Given the description of an element on the screen output the (x, y) to click on. 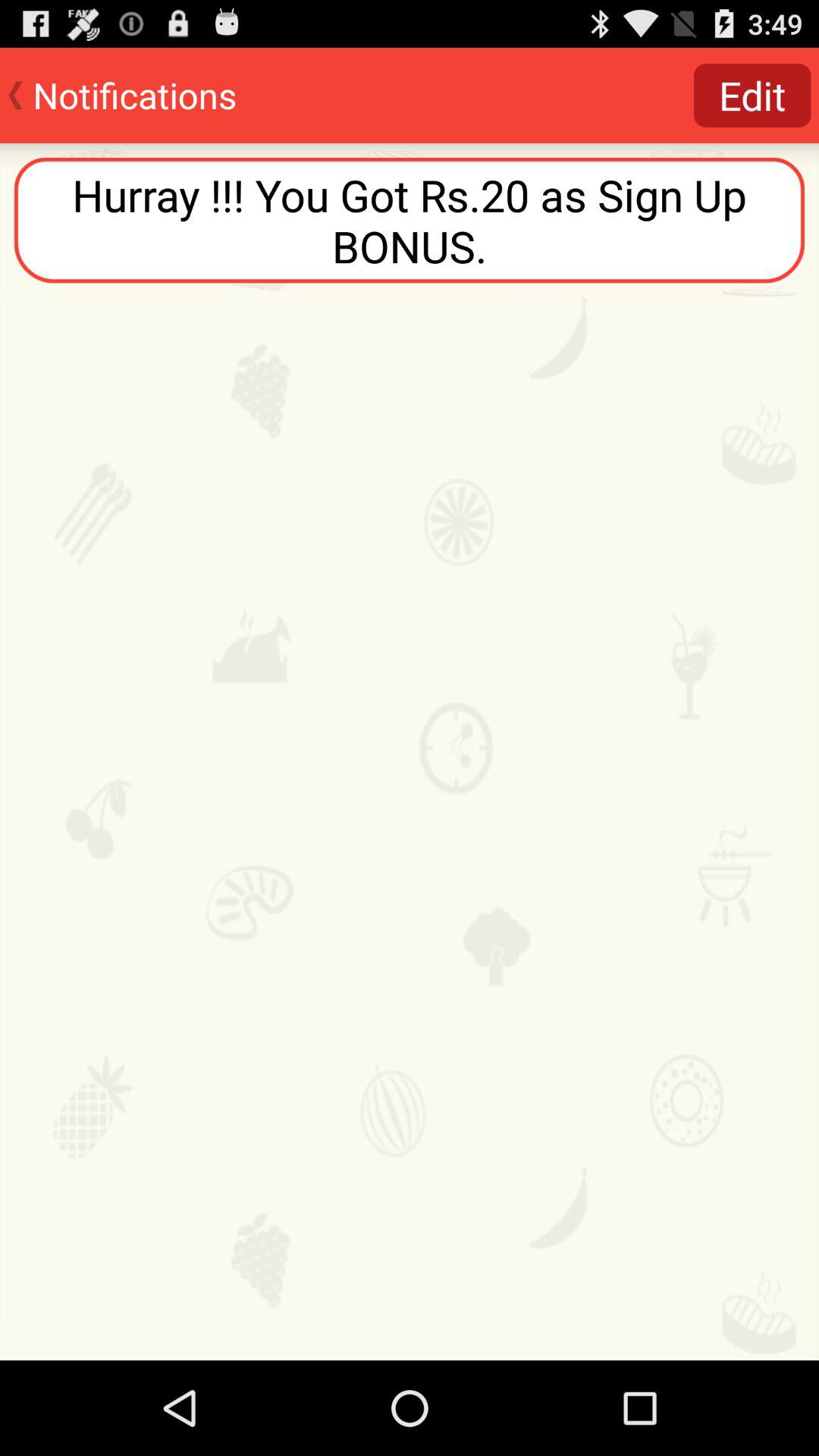
select the icon at the top right corner (752, 95)
